Given the description of an element on the screen output the (x, y) to click on. 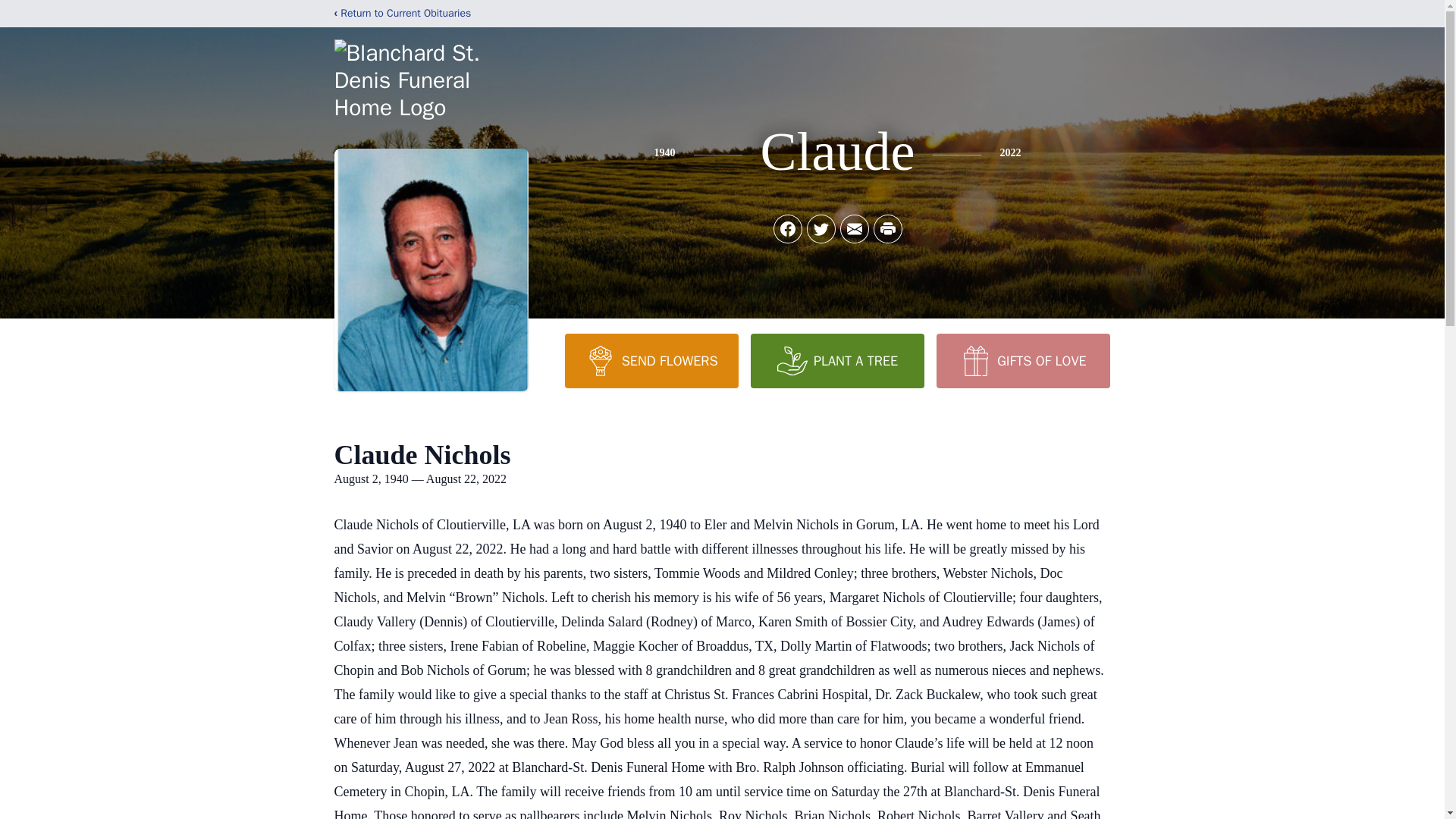
GIFTS OF LOVE (1022, 360)
SEND FLOWERS (651, 360)
PLANT A TREE (837, 360)
